Given the description of an element on the screen output the (x, y) to click on. 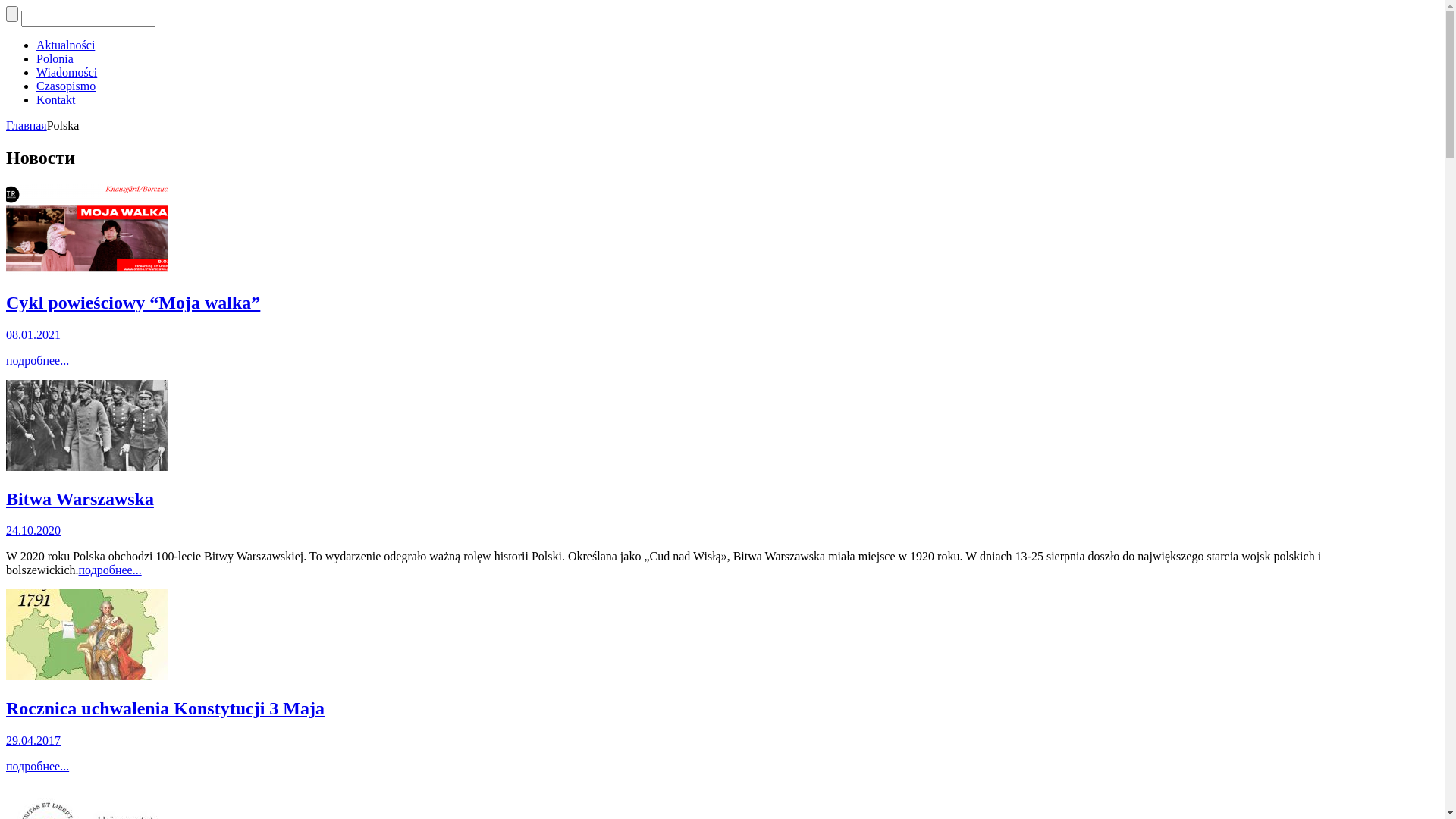
24.10.2020 Element type: text (33, 530)
08.01.2021 Element type: text (33, 334)
29.04.2017 Element type: text (33, 740)
Kontakt Element type: text (55, 99)
Bitwa Warszawska Element type: text (79, 498)
Czasopismo Element type: text (65, 85)
Rocznica uchwalenia Konstytucji 3 Maja Element type: text (165, 708)
Polonia Element type: text (54, 58)
